Given the description of an element on the screen output the (x, y) to click on. 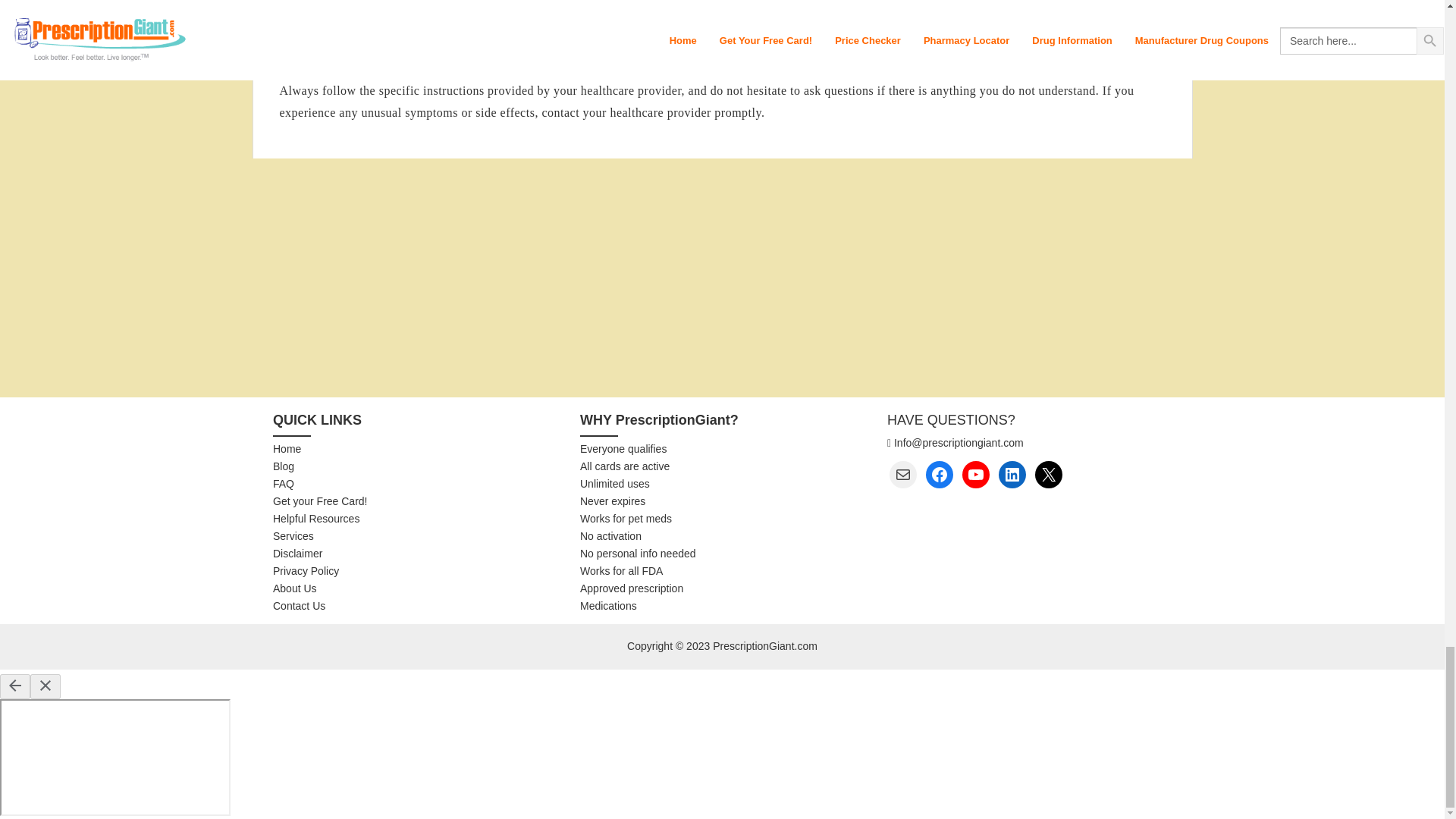
Works for pet meds (721, 519)
Helpful Resources (415, 519)
Home (415, 449)
All cards are active (721, 467)
Approved prescription (721, 589)
Services (415, 536)
Disclaimer (415, 554)
Works for all FDA (721, 571)
No personal info needed (721, 554)
FAQ (415, 484)
Medications (721, 606)
About Us (415, 589)
Everyone qualifies (721, 449)
Never expires (721, 501)
Blog (415, 467)
